Given the description of an element on the screen output the (x, y) to click on. 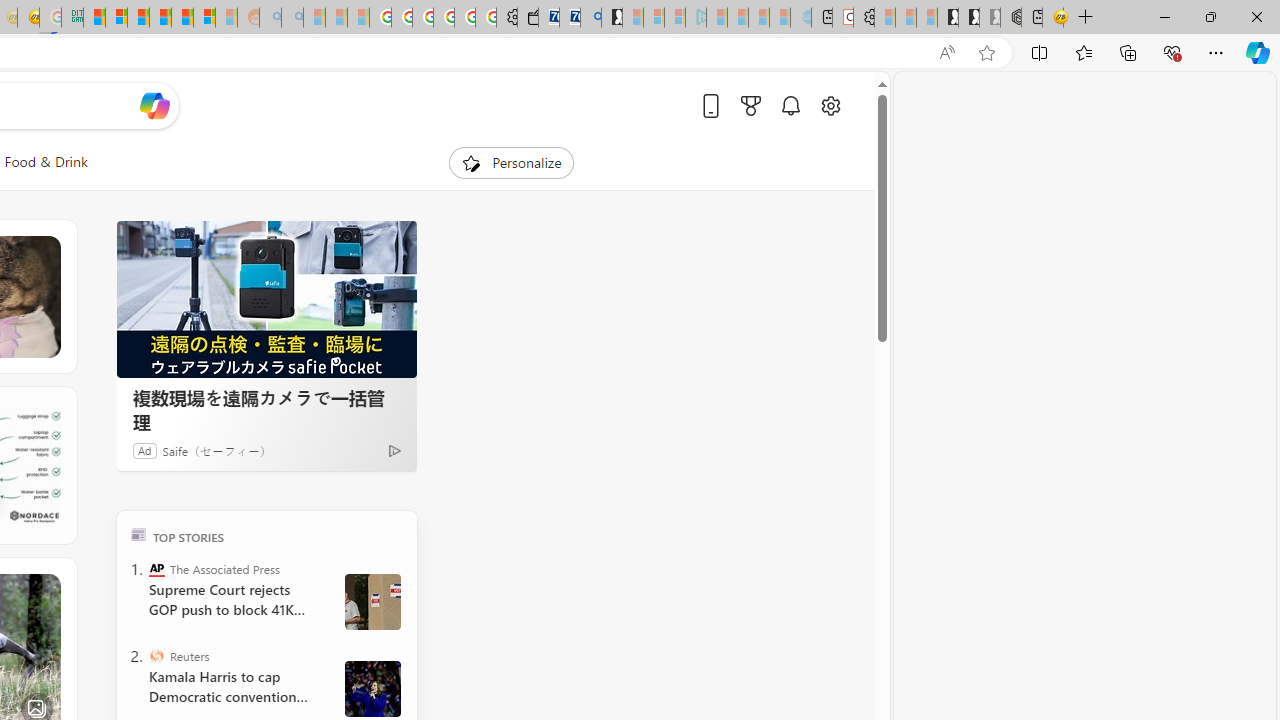
Bing Real Estate - Home sales and rental listings (591, 17)
Kinda Frugal - MSN (182, 17)
Reuters (156, 655)
